Given the description of an element on the screen output the (x, y) to click on. 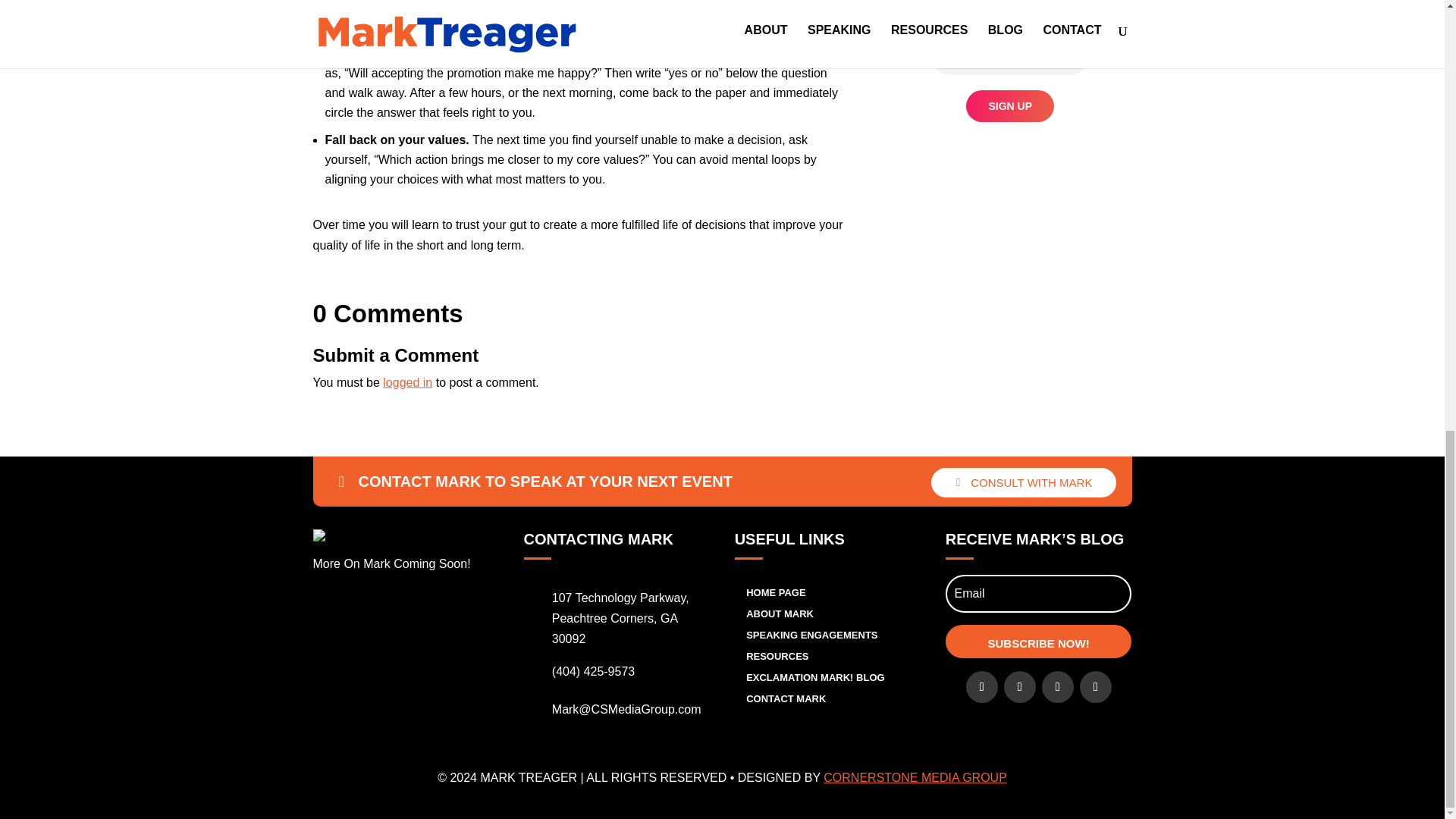
CONSULT WITH MARK (1023, 482)
SUBSCRIBE NOW! (1038, 641)
logged in (407, 382)
Follow on skype (1058, 686)
CORNERSTONE MEDIA GROUP (915, 777)
Follow on X (1019, 686)
Follow on Instagram (1096, 686)
Sign Up (1010, 106)
Mark-Treager-brand-logo-name (354, 535)
Follow on Facebook (981, 686)
CONTACT MARK TO SPEAK AT YOUR NEXT EVENT (534, 481)
